Given the description of an element on the screen output the (x, y) to click on. 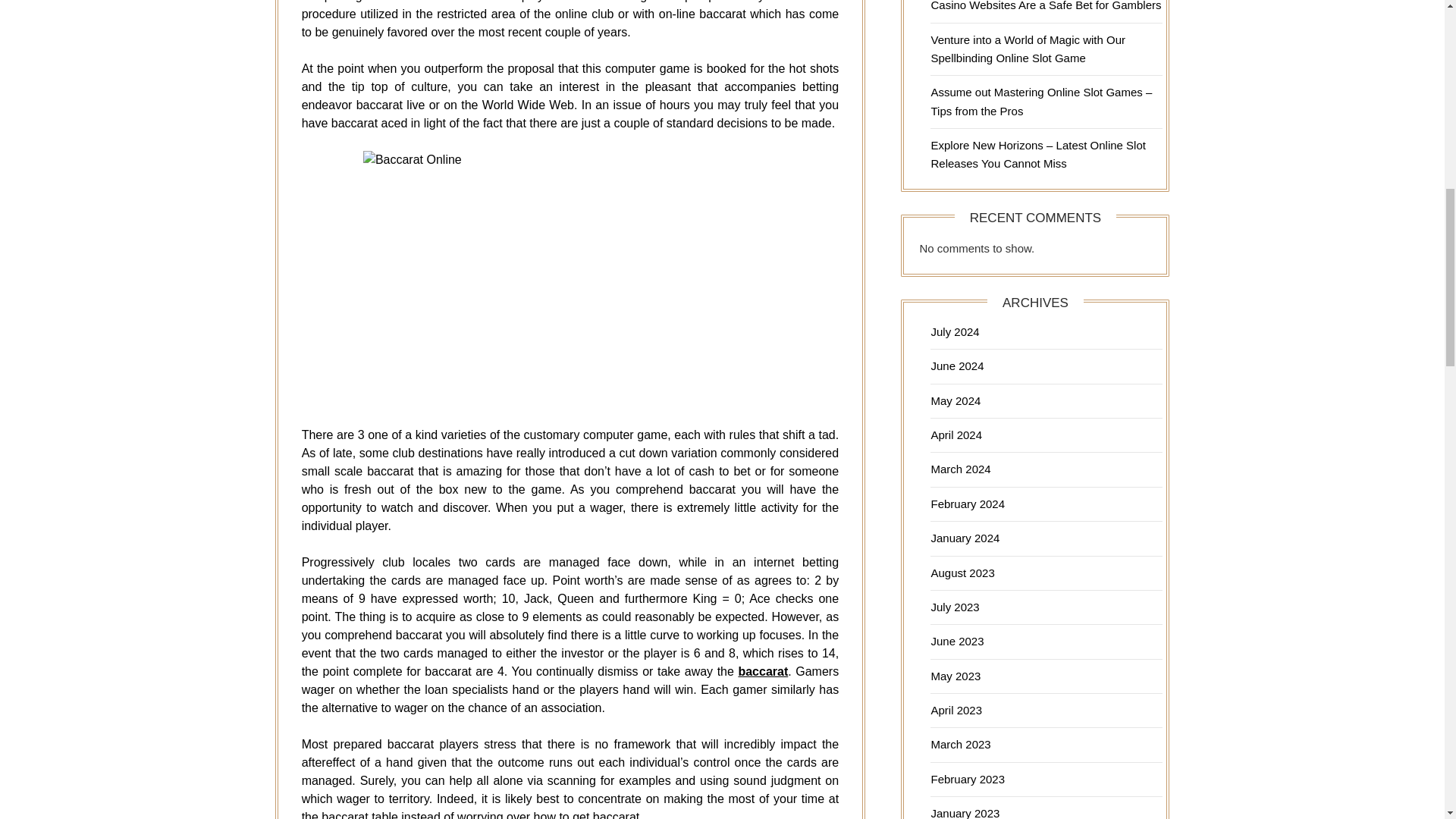
February 2024 (967, 503)
January 2023 (964, 812)
March 2024 (960, 468)
May 2024 (954, 400)
June 2023 (957, 640)
January 2024 (964, 537)
July 2023 (954, 606)
April 2023 (955, 709)
February 2023 (967, 779)
July 2024 (954, 331)
May 2023 (954, 675)
June 2024 (957, 365)
March 2023 (960, 744)
baccarat (762, 671)
